Given the description of an element on the screen output the (x, y) to click on. 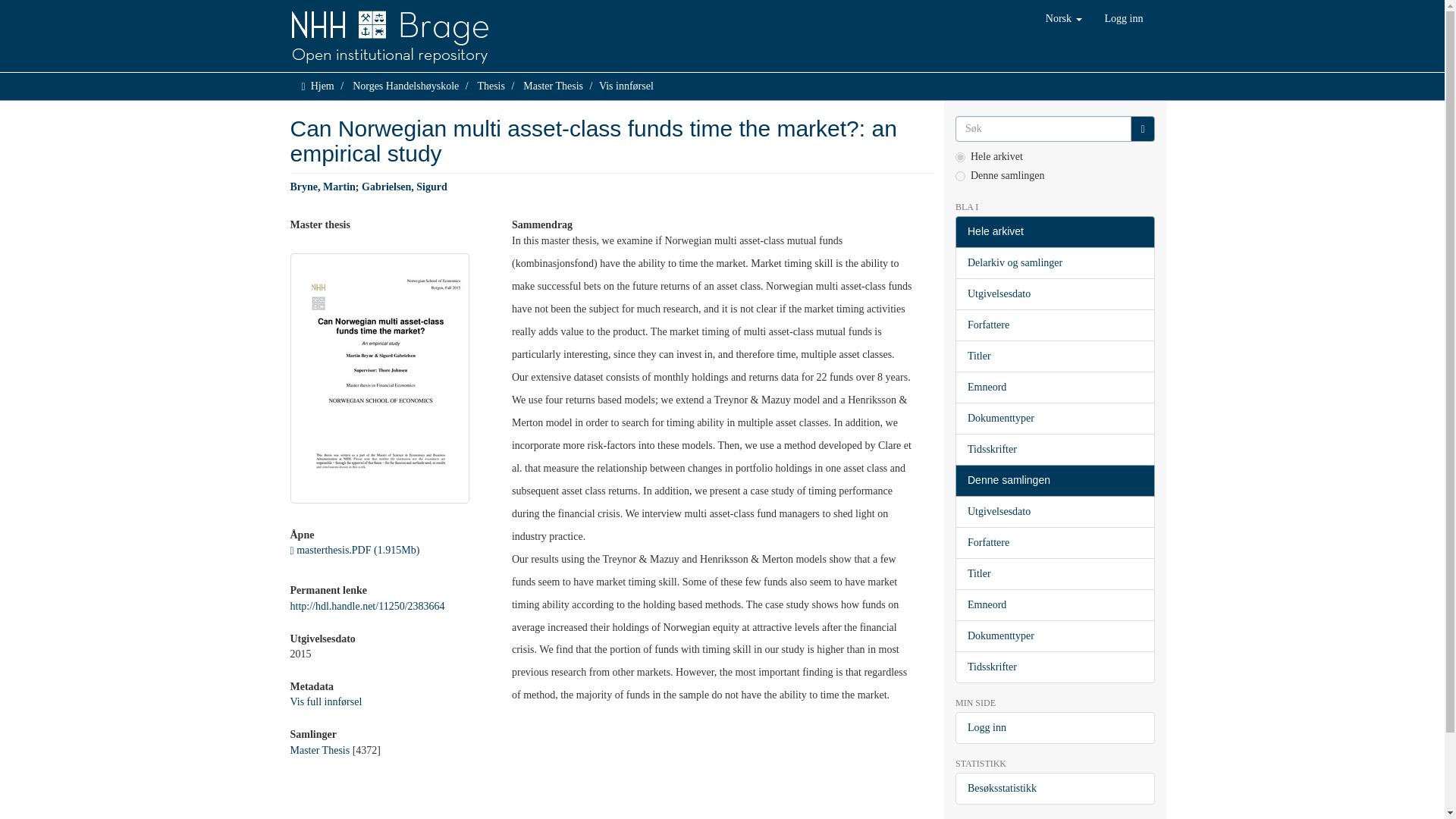
Hjem (322, 85)
Gabrielsen, Sigurd (403, 186)
Master Thesis (552, 85)
Utgivelsesdato (1054, 294)
Norsk  (1063, 18)
Hele arkivet (1054, 232)
Thesis (491, 85)
Delarkiv og samlinger (1054, 263)
Bryne, Martin (322, 186)
Titler (1054, 356)
Logg inn (1123, 18)
Master Thesis (319, 749)
Forfattere (1054, 325)
